Given the description of an element on the screen output the (x, y) to click on. 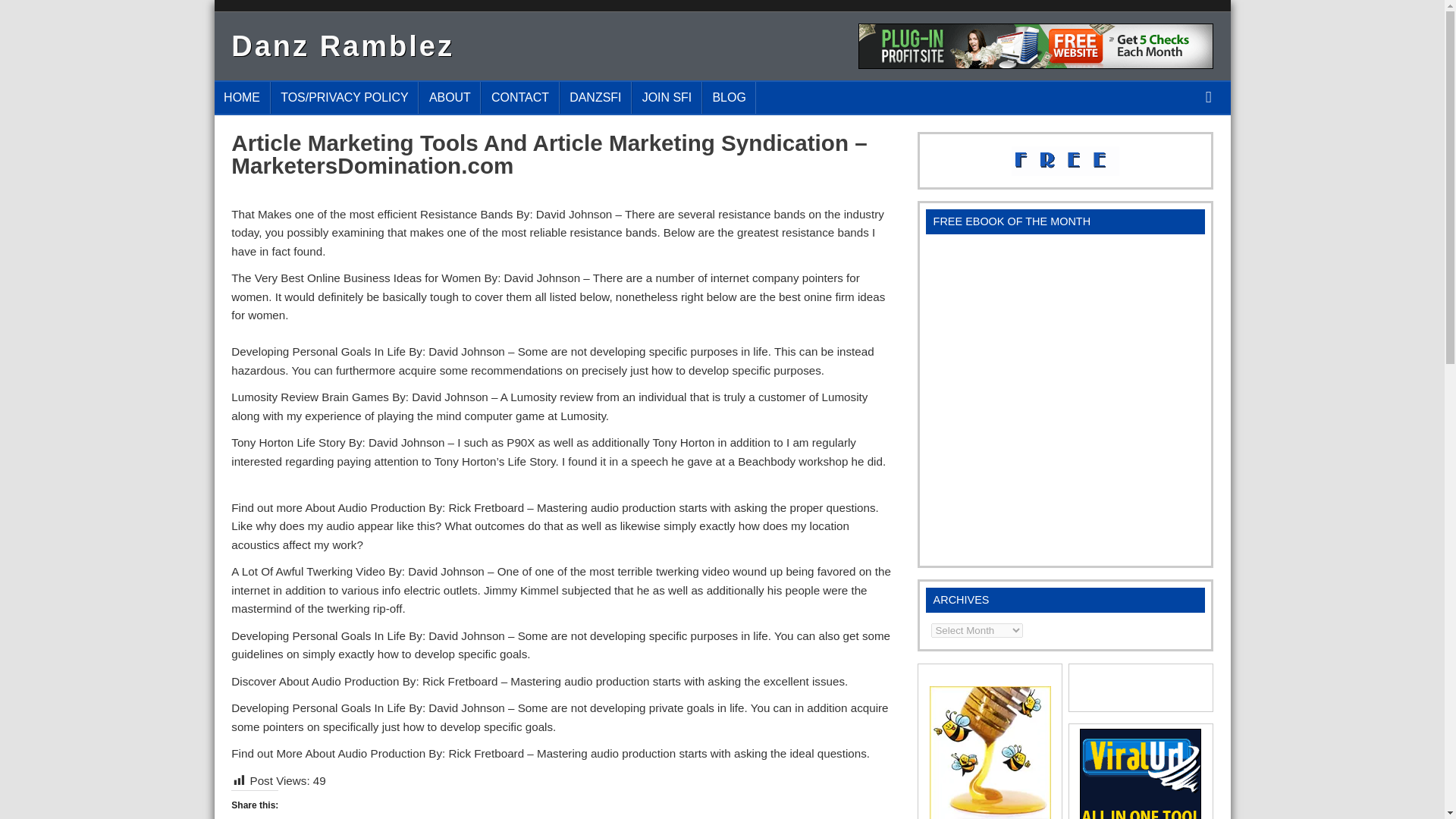
HOME (241, 97)
DANZSFI (595, 97)
BLOG (729, 97)
ABOUT (449, 97)
JOIN SFI (666, 97)
CONTACT (519, 97)
